Given the description of an element on the screen output the (x, y) to click on. 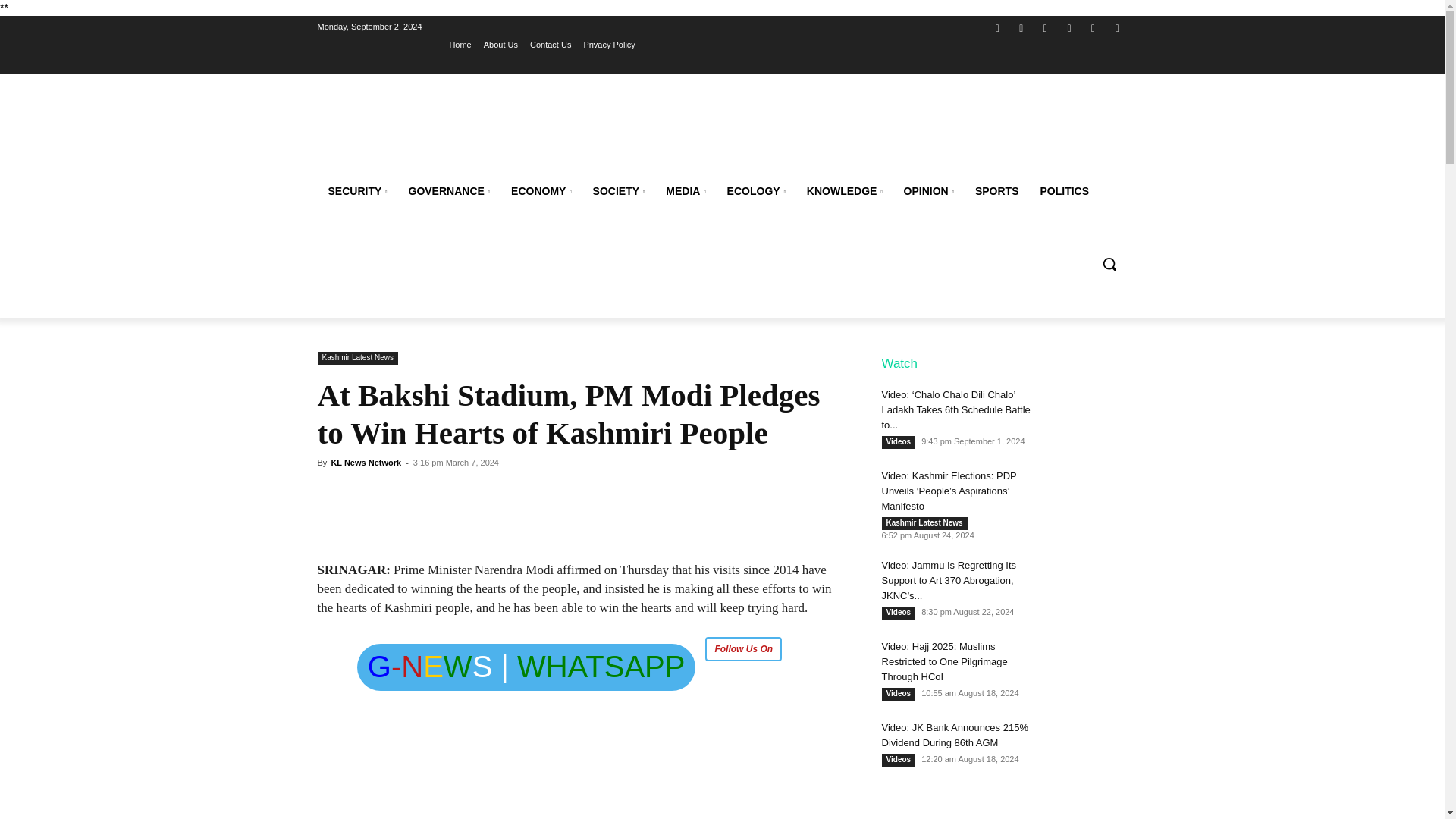
Website (1069, 28)
Facebook (997, 28)
Instagram (1021, 28)
WhatsApp (1093, 28)
Youtube (1116, 28)
Twitter (1045, 28)
